Given the description of an element on the screen output the (x, y) to click on. 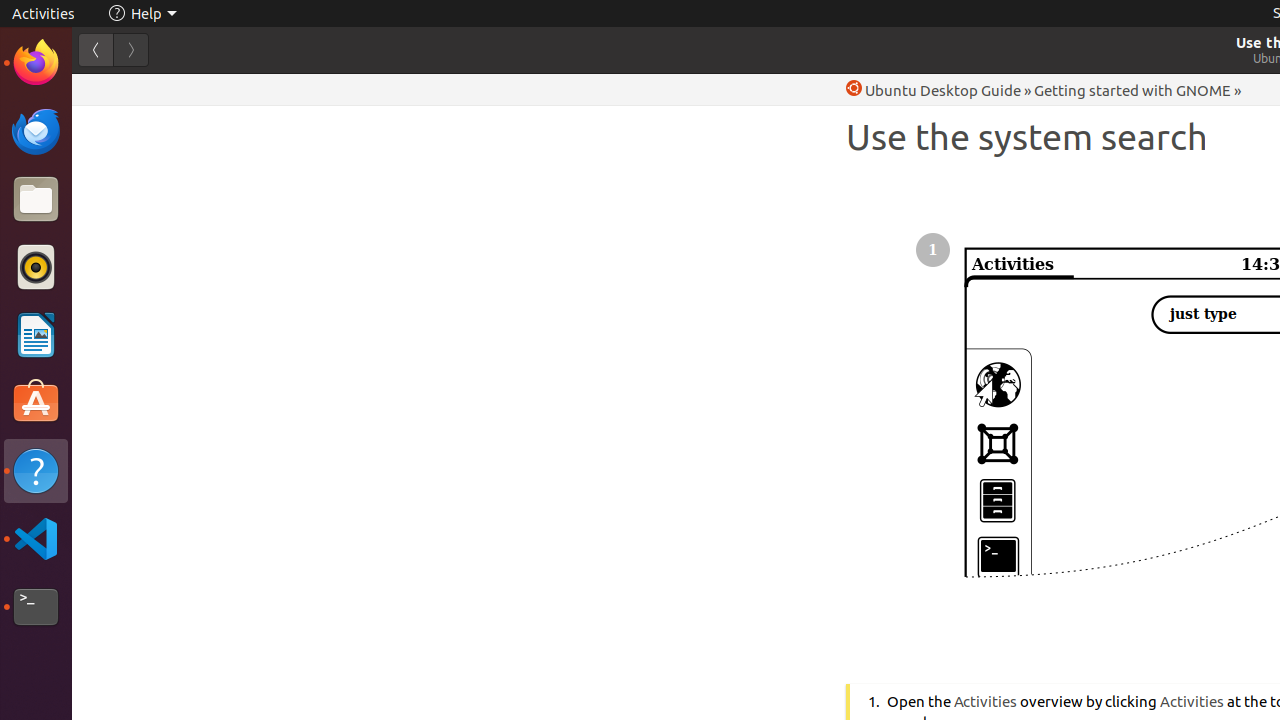
Terminal Element type: push-button (36, 607)
Help Ubuntu Desktop Guide Element type: link (933, 89)
Firefox Web Browser Element type: push-button (36, 63)
